Given the description of an element on the screen output the (x, y) to click on. 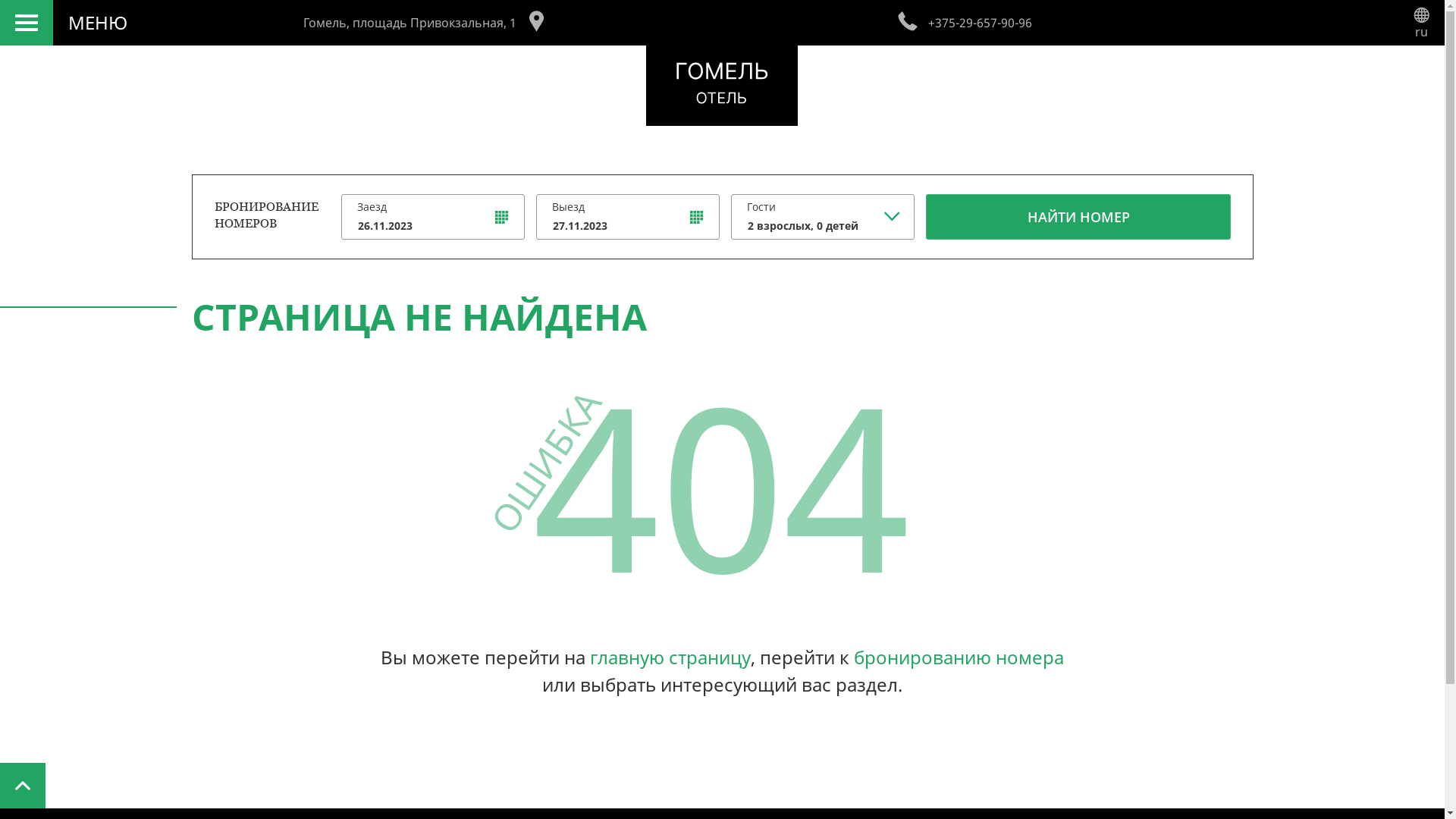
+375-29-657-90-96 Element type: text (956, 22)
